Given the description of an element on the screen output the (x, y) to click on. 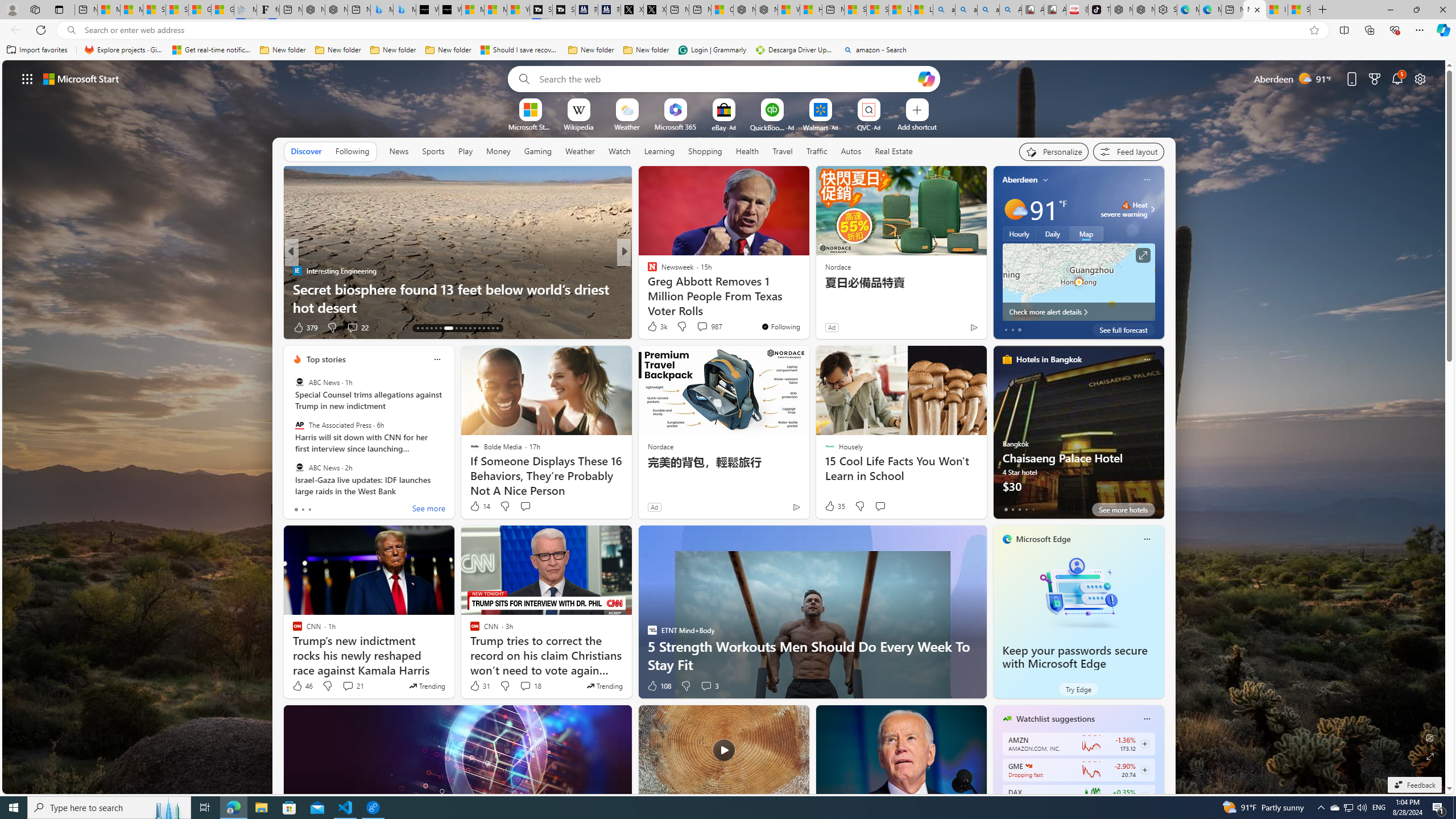
View comments 2 Comment (702, 327)
tab-4 (1032, 509)
View comments 1 Comment (702, 327)
Add a site (916, 126)
Keep your passwords secure with Microsoft Edge (1074, 657)
AutomationID: tab-17 (435, 328)
